Given the description of an element on the screen output the (x, y) to click on. 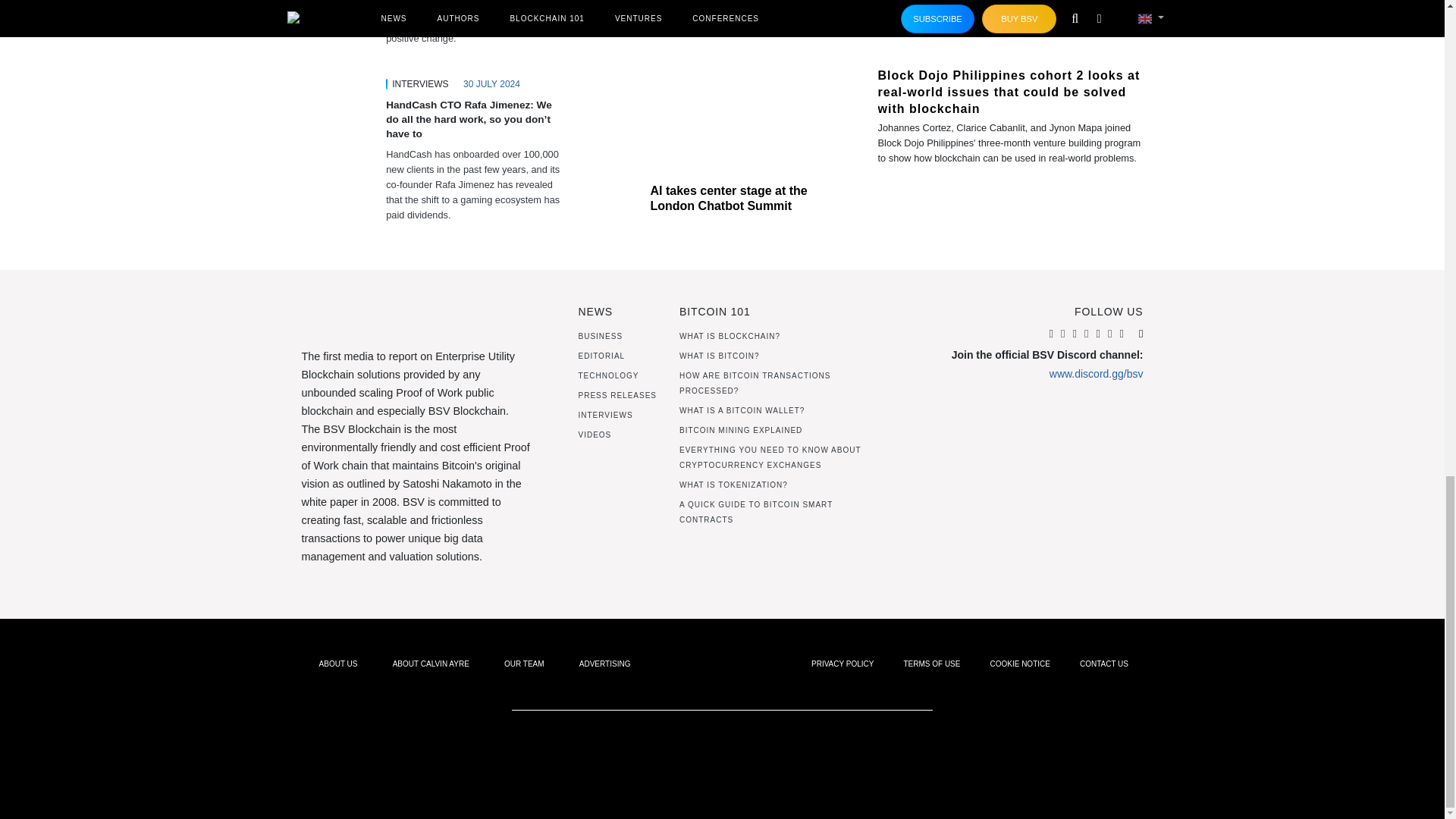
AI takes center stage at the London Chatbot Summit (727, 198)
AI takes center stage at the London Chatbot Summit (722, 85)
